Given the description of an element on the screen output the (x, y) to click on. 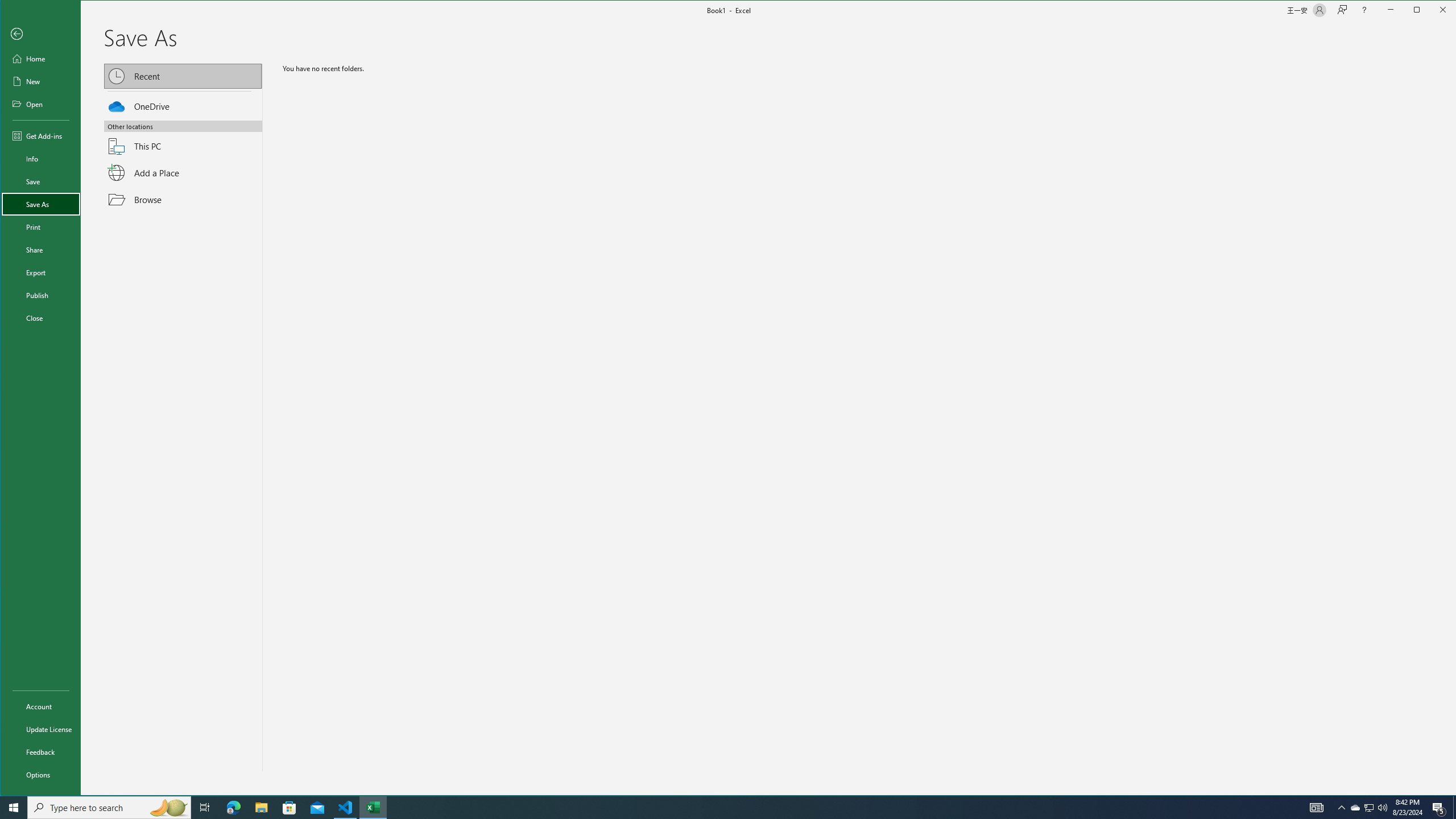
Close (1445, 11)
Print (40, 226)
Help (1364, 9)
Maximize (1432, 11)
Task View (1368, 807)
Add a Place (204, 807)
Share (182, 172)
Show desktop (40, 249)
Publish (1454, 807)
Action Center, 5 new notifications (40, 295)
Info (1439, 807)
Saving Features (40, 158)
New (182, 422)
